Given the description of an element on the screen output the (x, y) to click on. 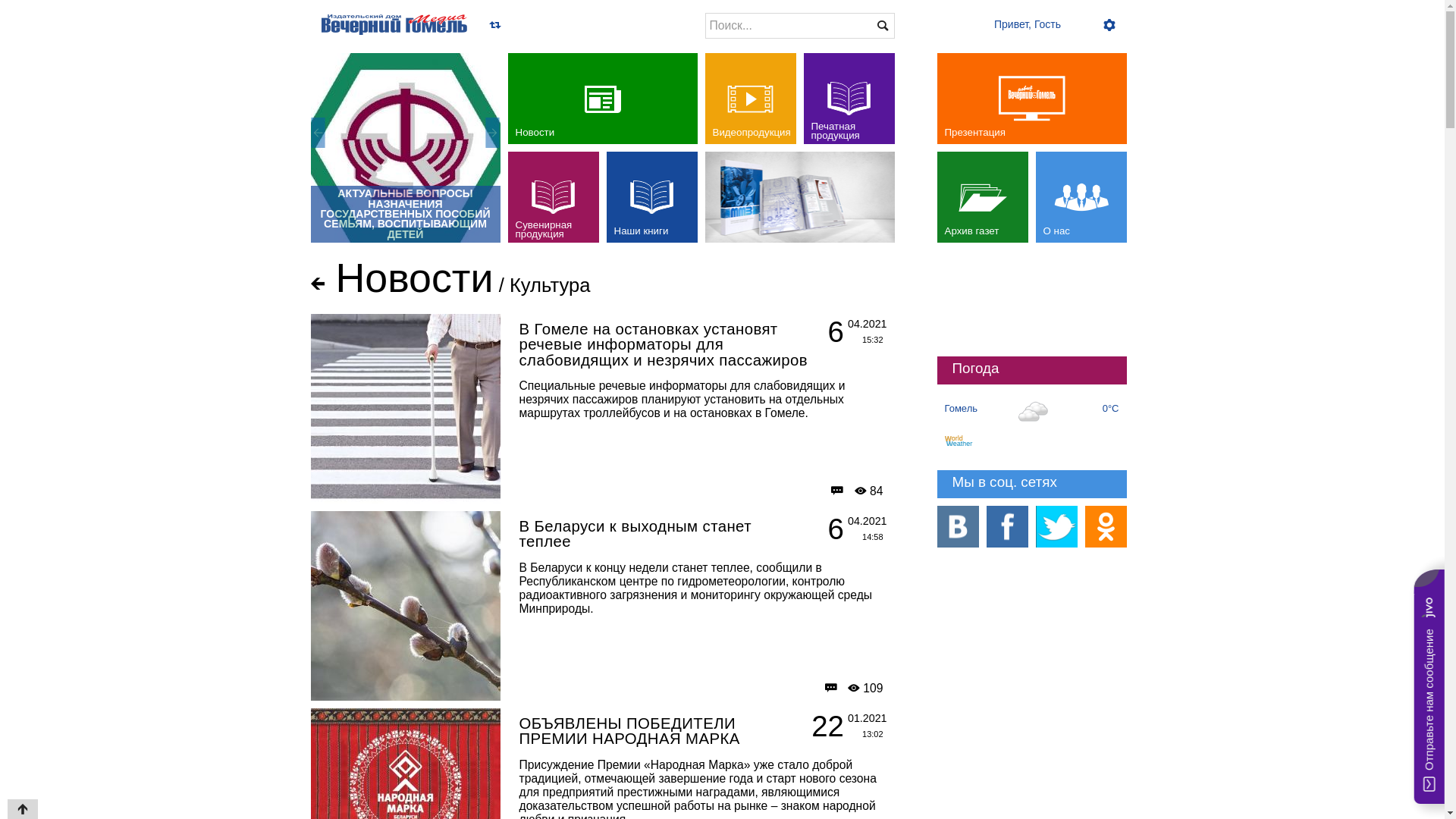
13:02
01.2021
22 Element type: text (841, 727)
15:32
04.2021
6 Element type: text (841, 332)
14:58
04.2021
6 Element type: text (841, 529)
